Given the description of an element on the screen output the (x, y) to click on. 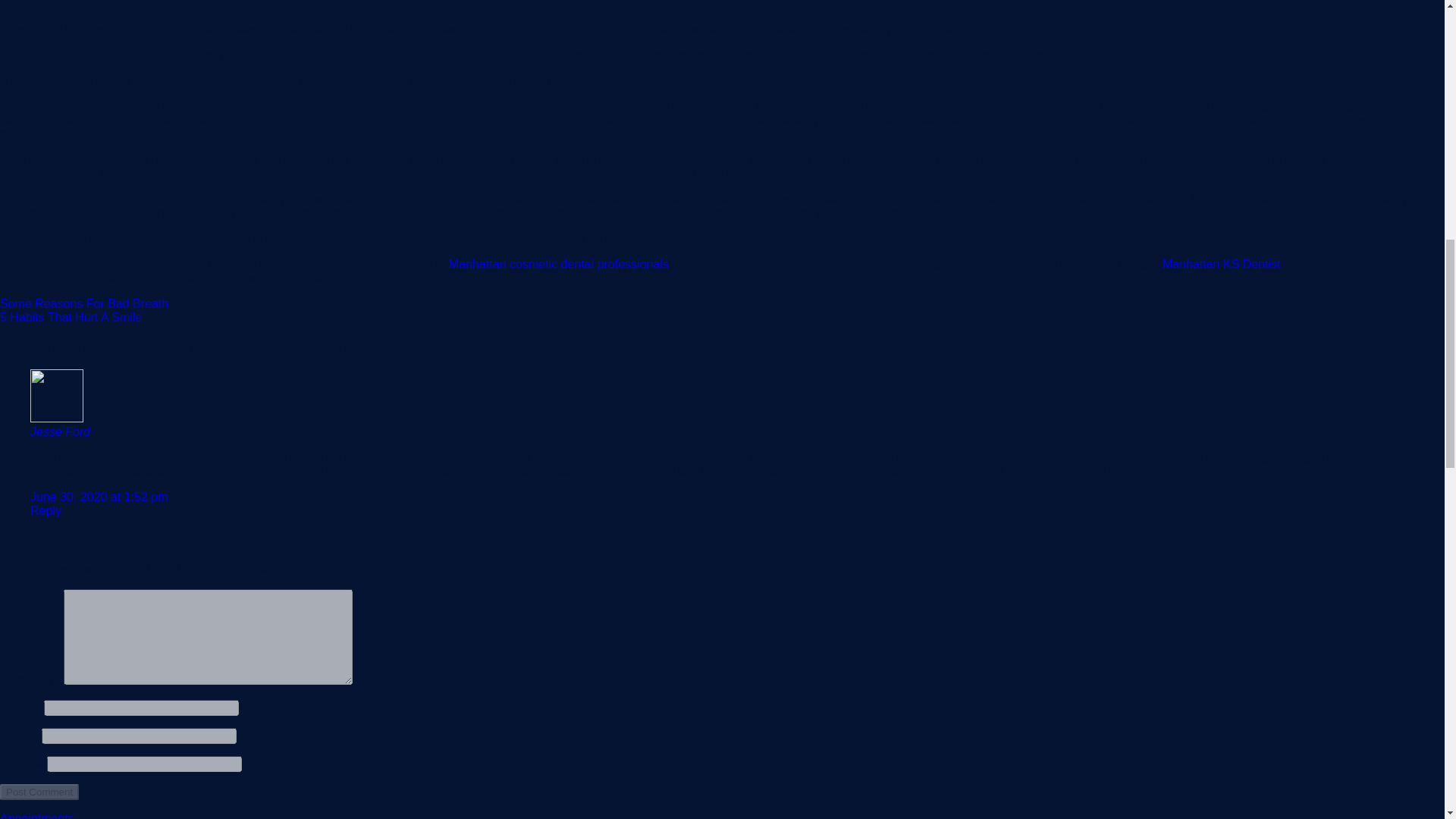
Manhattan KS Dentist (1221, 264)
Manhattan cosmetic dental professionals (558, 264)
Post Comment (39, 791)
